Given the description of an element on the screen output the (x, y) to click on. 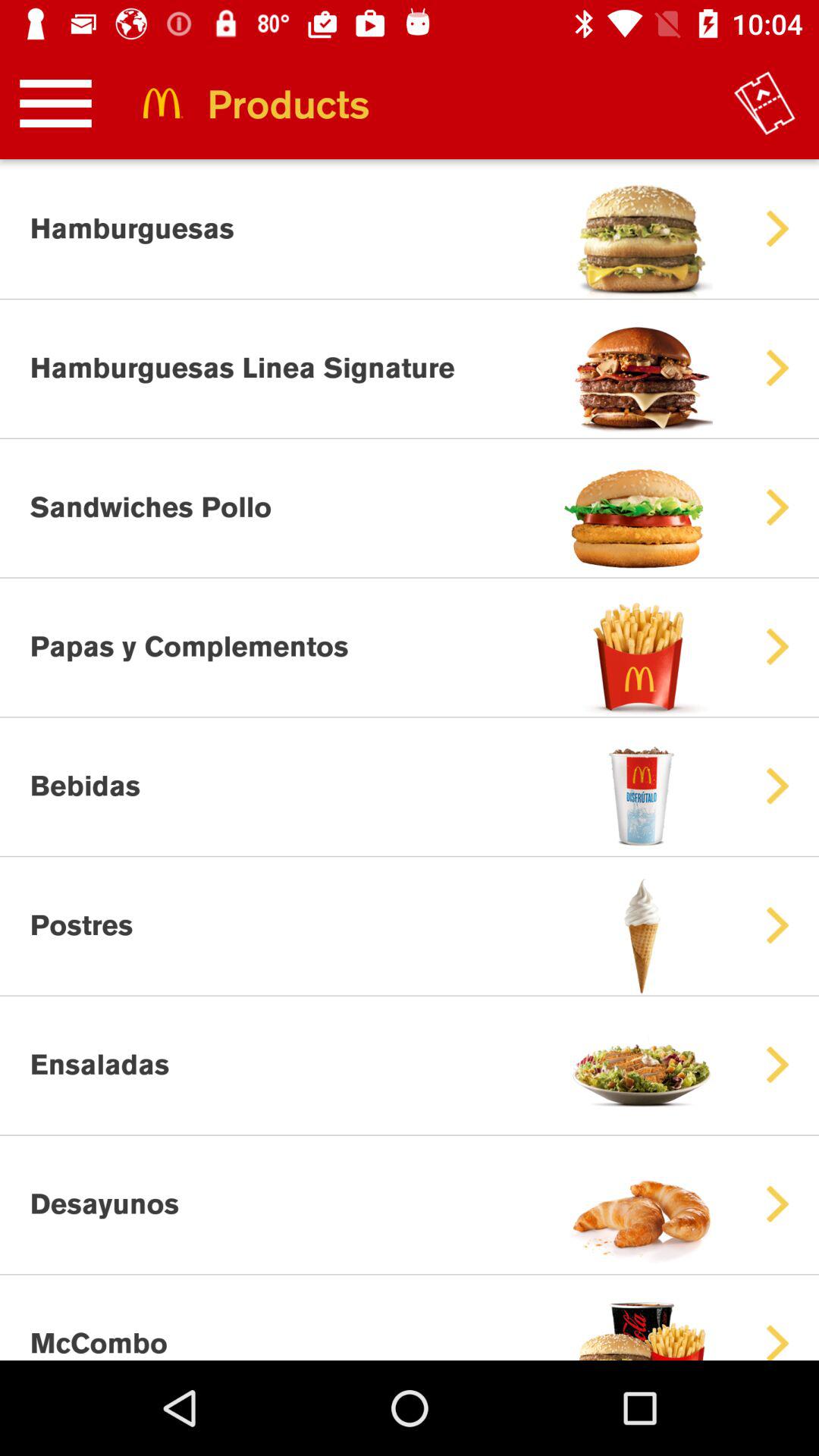
tap the icon above hamburguesas icon (55, 103)
